Given the description of an element on the screen output the (x, y) to click on. 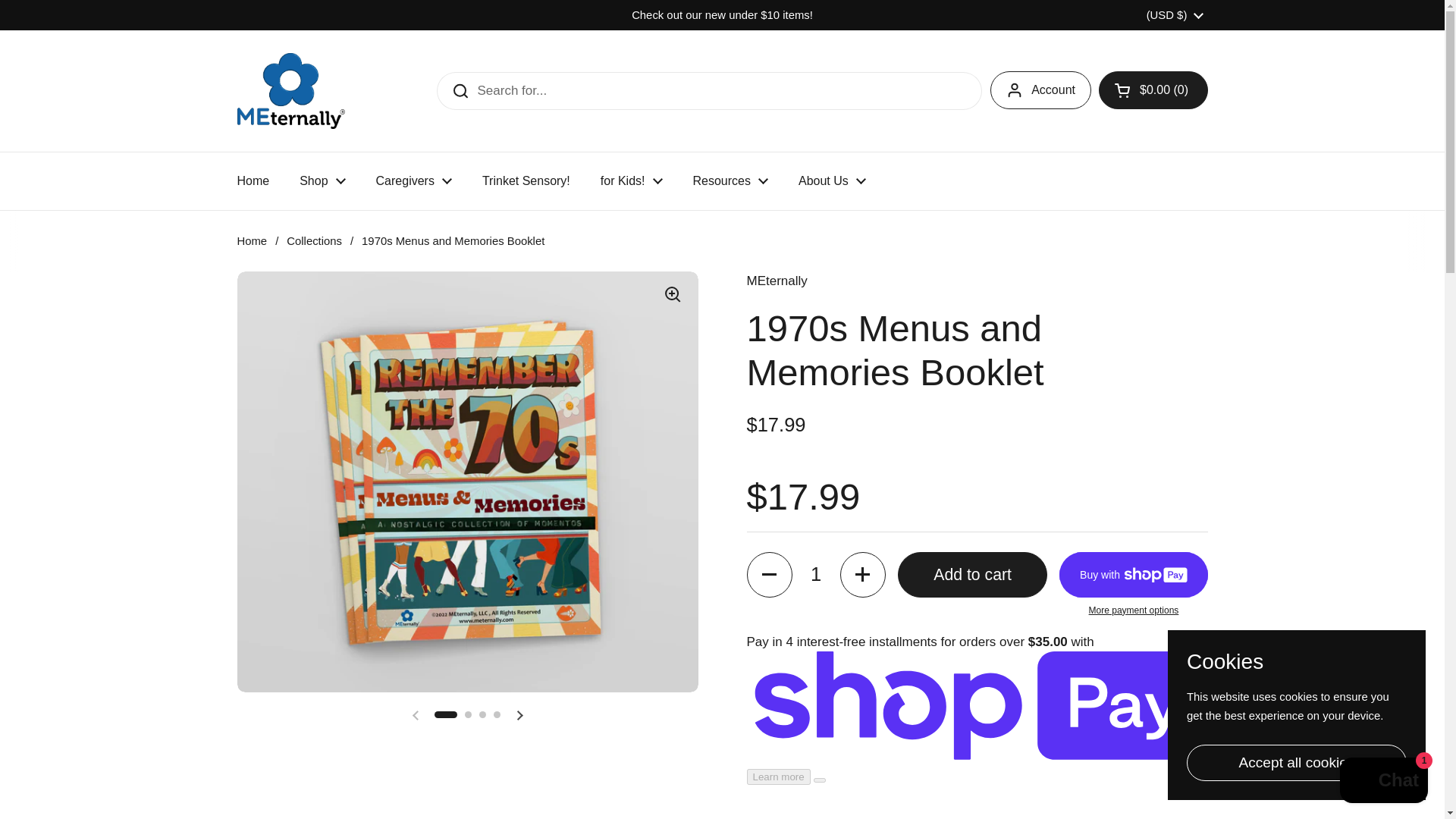
Account (1040, 89)
Shop (321, 181)
Open cart (1153, 89)
MEternally (289, 90)
Home (252, 181)
Home (252, 181)
1 (815, 574)
Shop (321, 181)
